Given the description of an element on the screen output the (x, y) to click on. 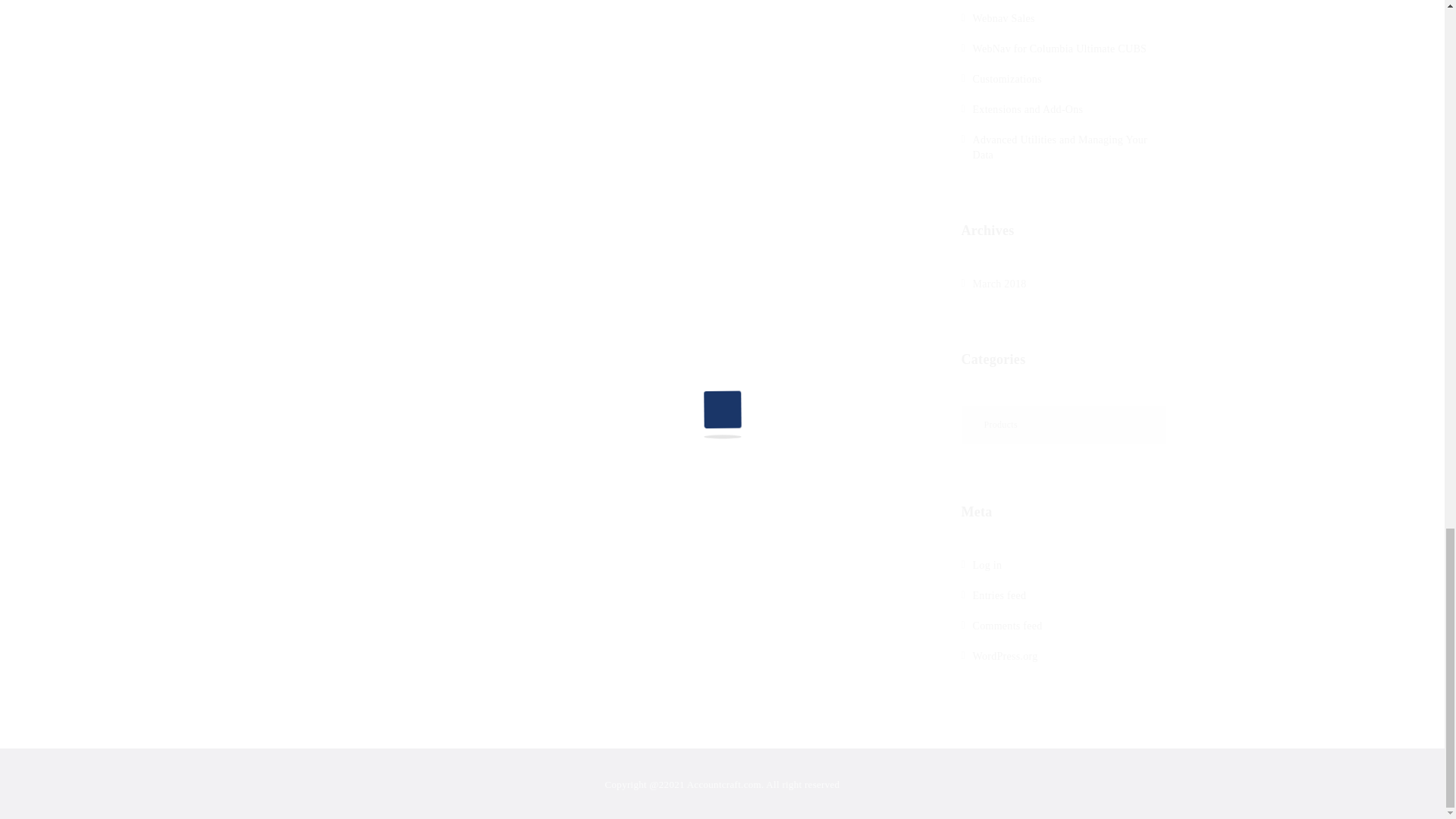
Customizations (1006, 79)
WebNav for Columbia Ultimate CUBS (1059, 48)
Webnav Sales (1002, 18)
